Given the description of an element on the screen output the (x, y) to click on. 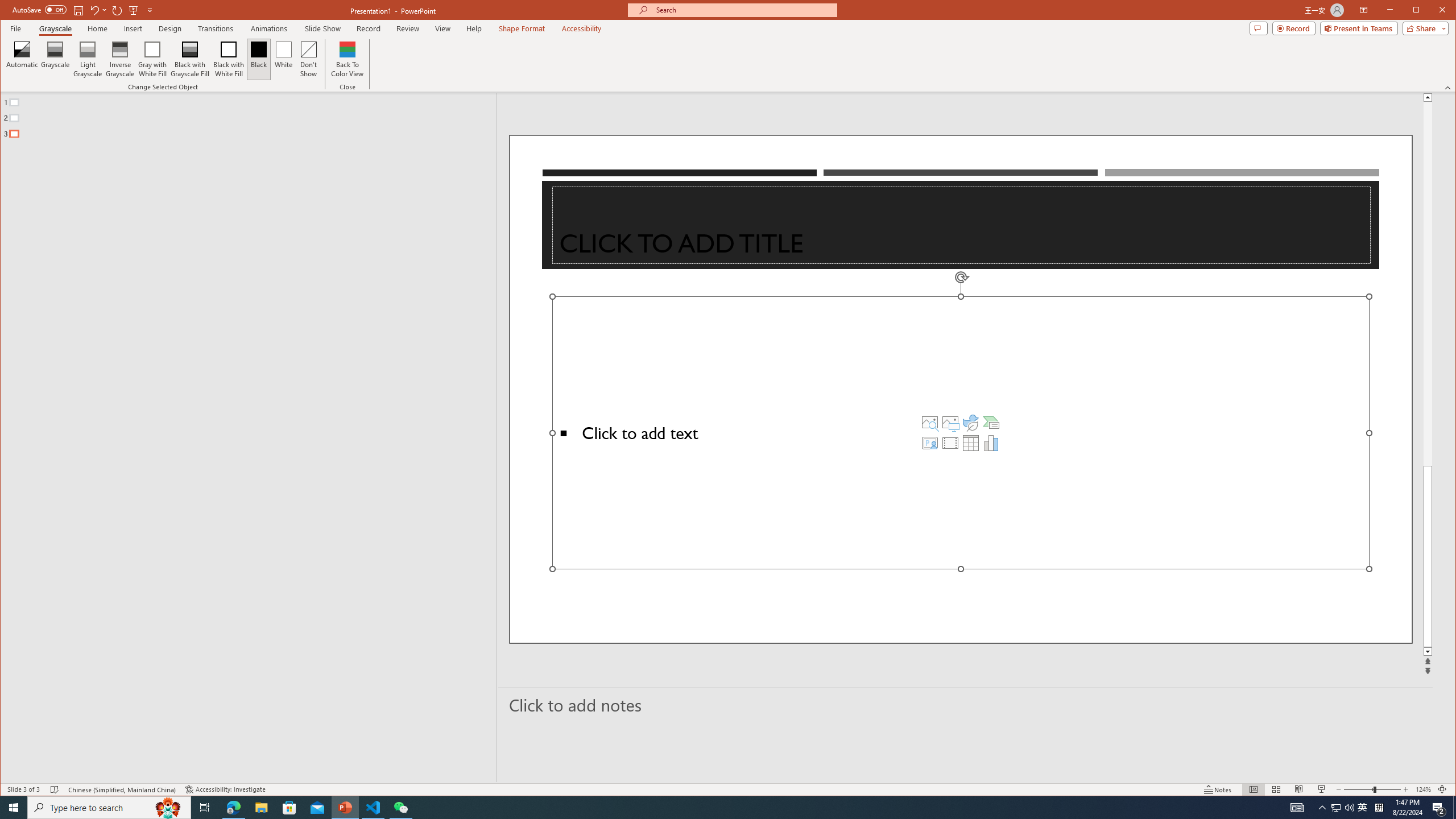
Collapse the Ribbon (1448, 87)
Home (97, 28)
Present in Teams (1358, 28)
Maximize (1432, 11)
Undo (94, 9)
Tray Input Indicator - Chinese (Simplified, China) (1378, 807)
AutoSave (38, 9)
Insert Cameo (929, 443)
Share (1335, 807)
